Given the description of an element on the screen output the (x, y) to click on. 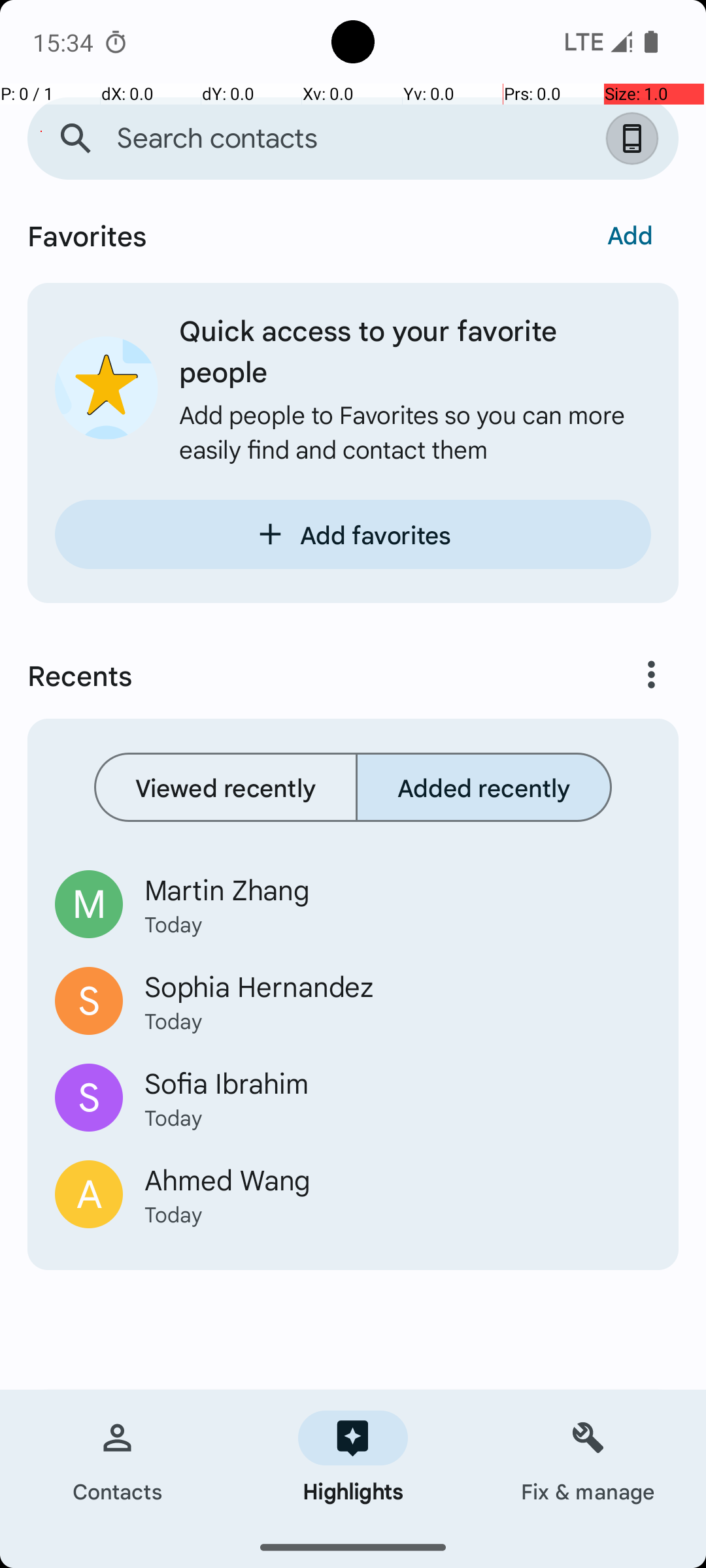
Quick access to your favorite people Element type: android.widget.TextView (415, 350)
Add people to Favorites so you can more easily find and contact them Element type: android.widget.TextView (415, 431)
Add favorites Element type: android.widget.Button (352, 534)
Viewed recently Element type: android.widget.CompoundButton (225, 787)
Added recently Element type: android.widget.CompoundButton (483, 787)
Martin Zhang Element type: android.widget.TextView (397, 888)
Sophia Hernandez Element type: android.widget.TextView (397, 985)
Sofia Ibrahim Element type: android.widget.TextView (397, 1082)
Ahmed Wang Element type: android.widget.TextView (397, 1178)
